Given the description of an element on the screen output the (x, y) to click on. 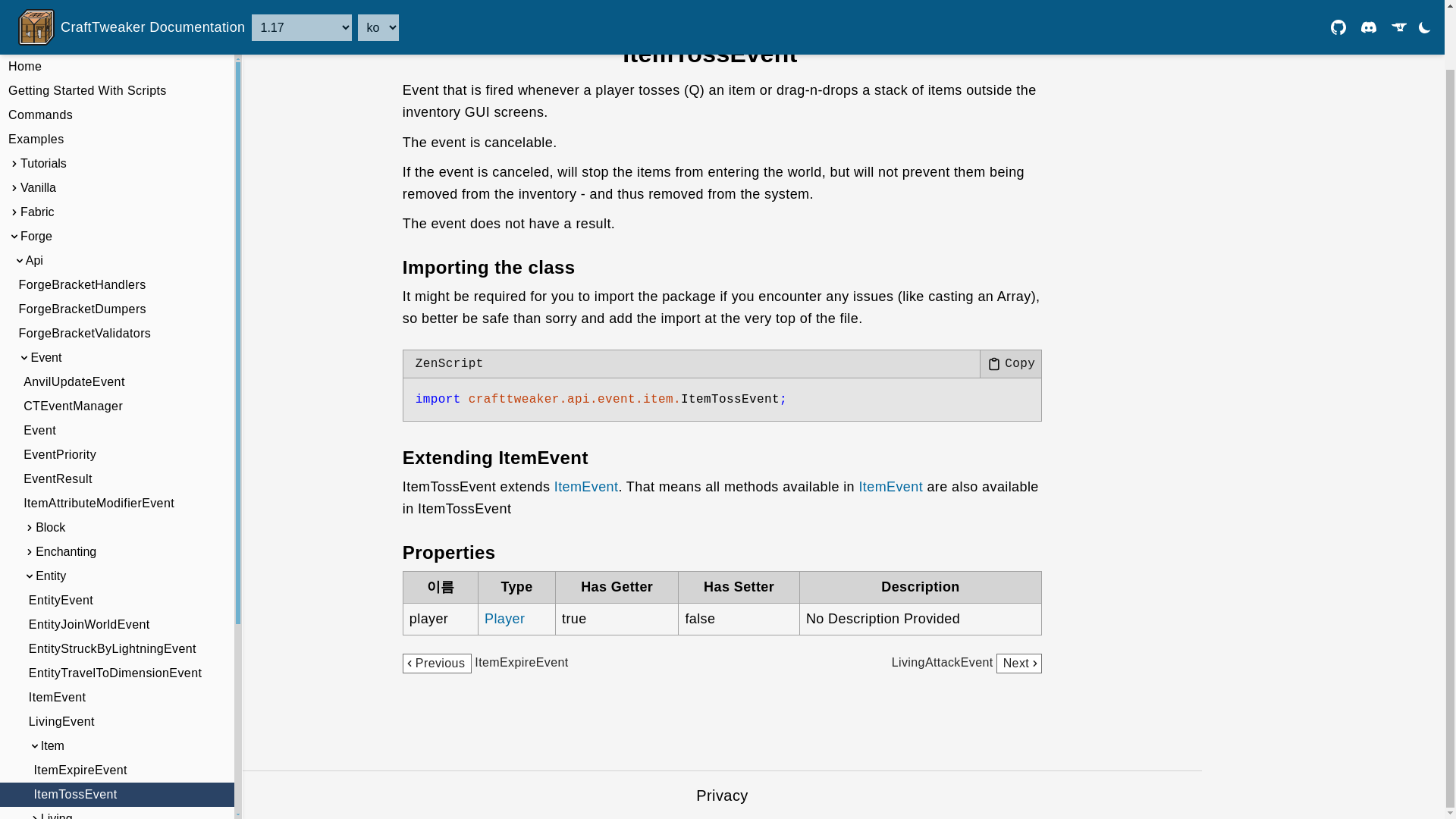
CTEventManager (117, 341)
Block (117, 463)
Vanilla (117, 123)
Commands (117, 50)
ForgeBracketValidators (117, 269)
Properties (449, 552)
Extending ItemEvent (495, 457)
EntityStruckByLightningEvent (117, 584)
Event (117, 293)
ItemTossEvent (709, 53)
AnvilUpdateEvent (117, 317)
Examples (117, 74)
ItemTossEvent (117, 730)
Tutorials (117, 98)
Item (117, 681)
